Given the description of an element on the screen output the (x, y) to click on. 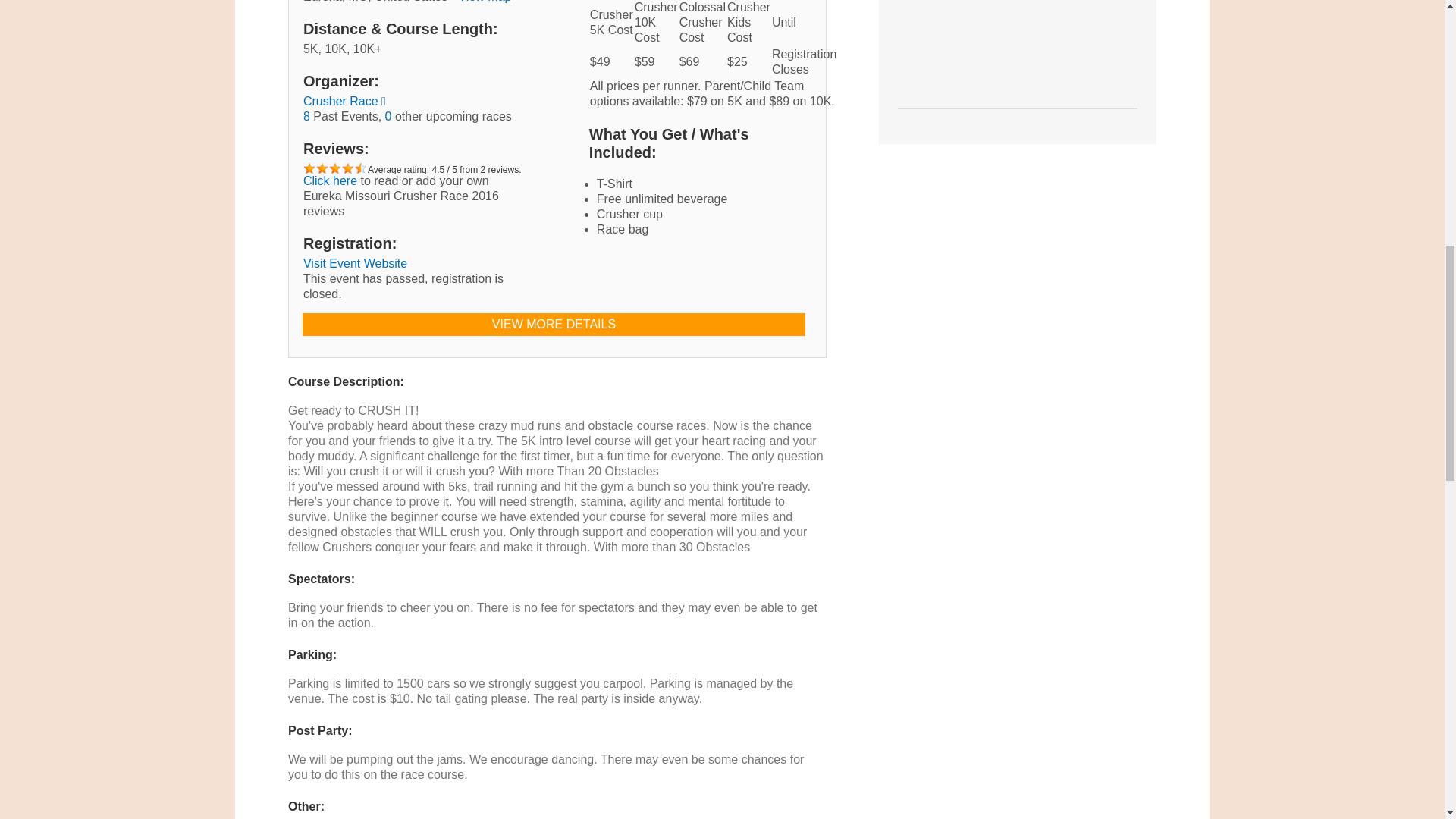
View Map (484, 1)
